Given the description of an element on the screen output the (x, y) to click on. 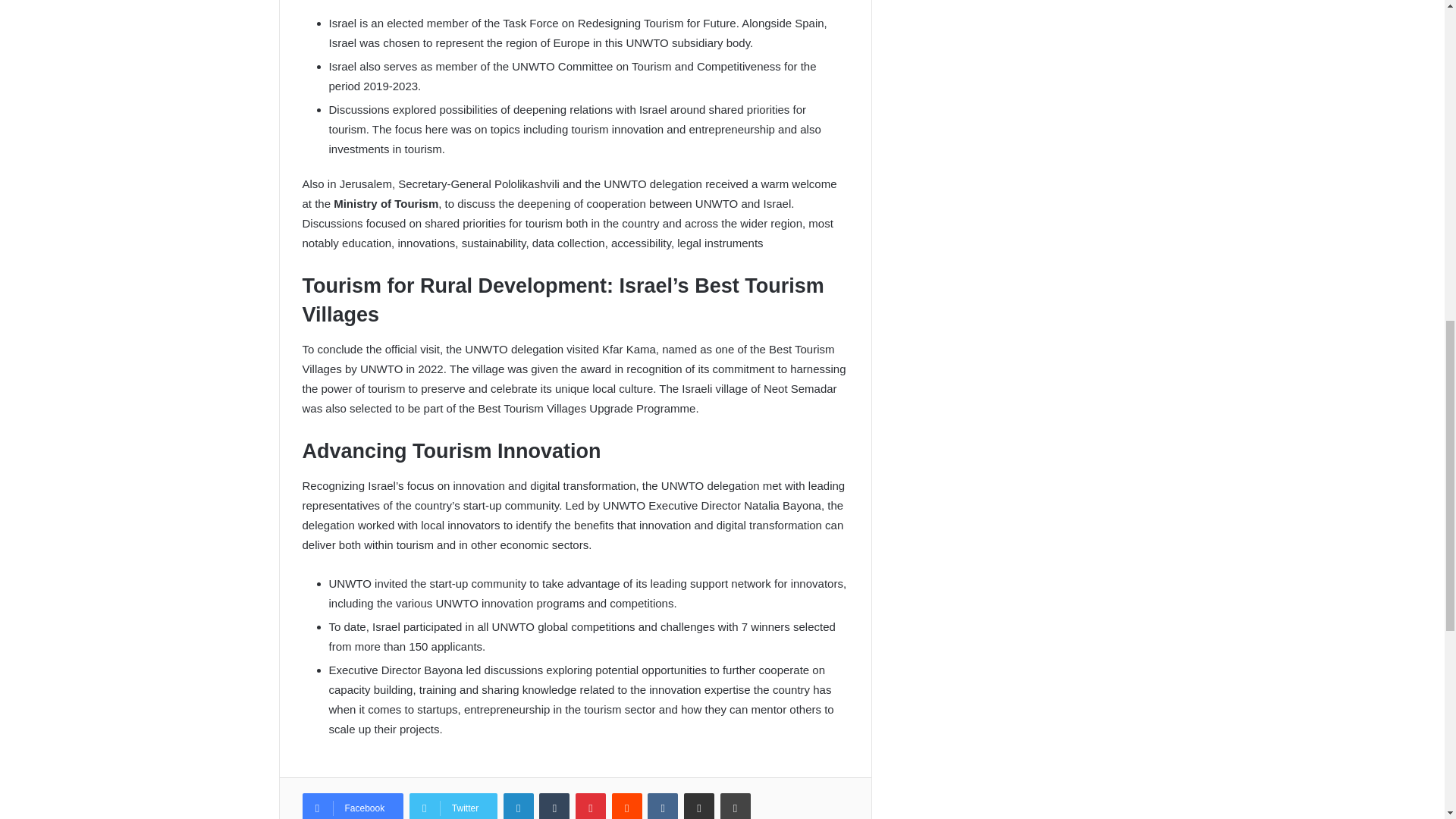
Tumblr (553, 806)
Twitter (453, 806)
Facebook (352, 806)
LinkedIn (518, 806)
Reddit (626, 806)
Twitter (453, 806)
Tumblr (553, 806)
VKontakte (662, 806)
Reddit (626, 806)
Print (735, 806)
